Given the description of an element on the screen output the (x, y) to click on. 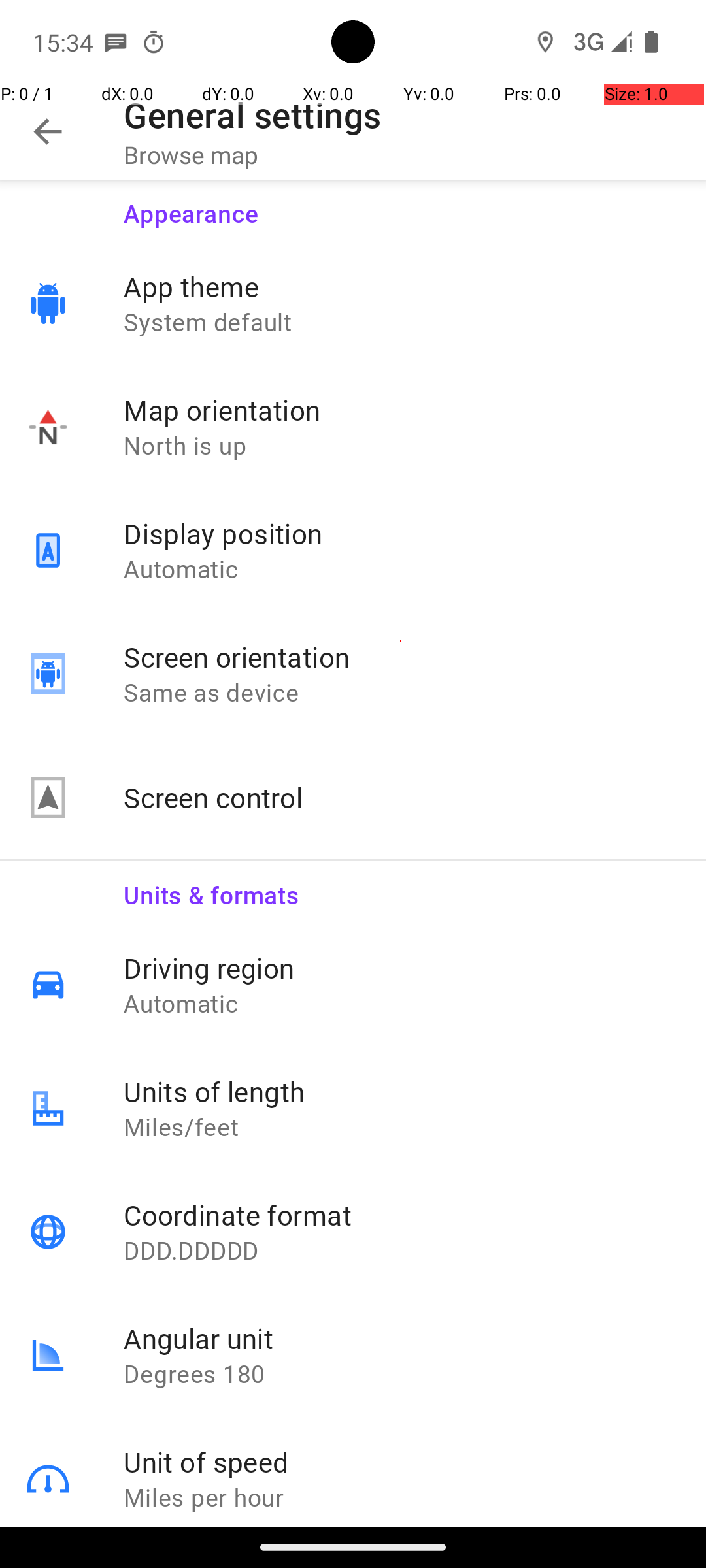
General settings Element type: android.widget.TextView (252, 114)
Appearance Element type: android.widget.TextView (400, 204)
App theme Element type: android.widget.TextView (400, 286)
Map orientation Element type: android.widget.TextView (400, 409)
Display position Element type: android.widget.TextView (400, 533)
Screen orientation Element type: android.widget.TextView (400, 656)
Same as device Element type: android.widget.TextView (400, 691)
Screen control Element type: android.widget.TextView (400, 797)
Units & formats Element type: android.widget.TextView (400, 886)
Driving region Element type: android.widget.TextView (400, 967)
Units of length Element type: android.widget.TextView (400, 1091)
Miles/feet Element type: android.widget.TextView (400, 1126)
Coordinate format Element type: android.widget.TextView (400, 1214)
DDD.DDDDD Element type: android.widget.TextView (400, 1249)
Angular unit Element type: android.widget.TextView (400, 1337)
Degrees 180 Element type: android.widget.TextView (400, 1373)
Unit of speed Element type: android.widget.TextView (400, 1461)
Miles per hour Element type: android.widget.TextView (400, 1496)
SMS Messenger notification: +17247648679 Element type: android.widget.ImageView (115, 41)
